Given the description of an element on the screen output the (x, y) to click on. 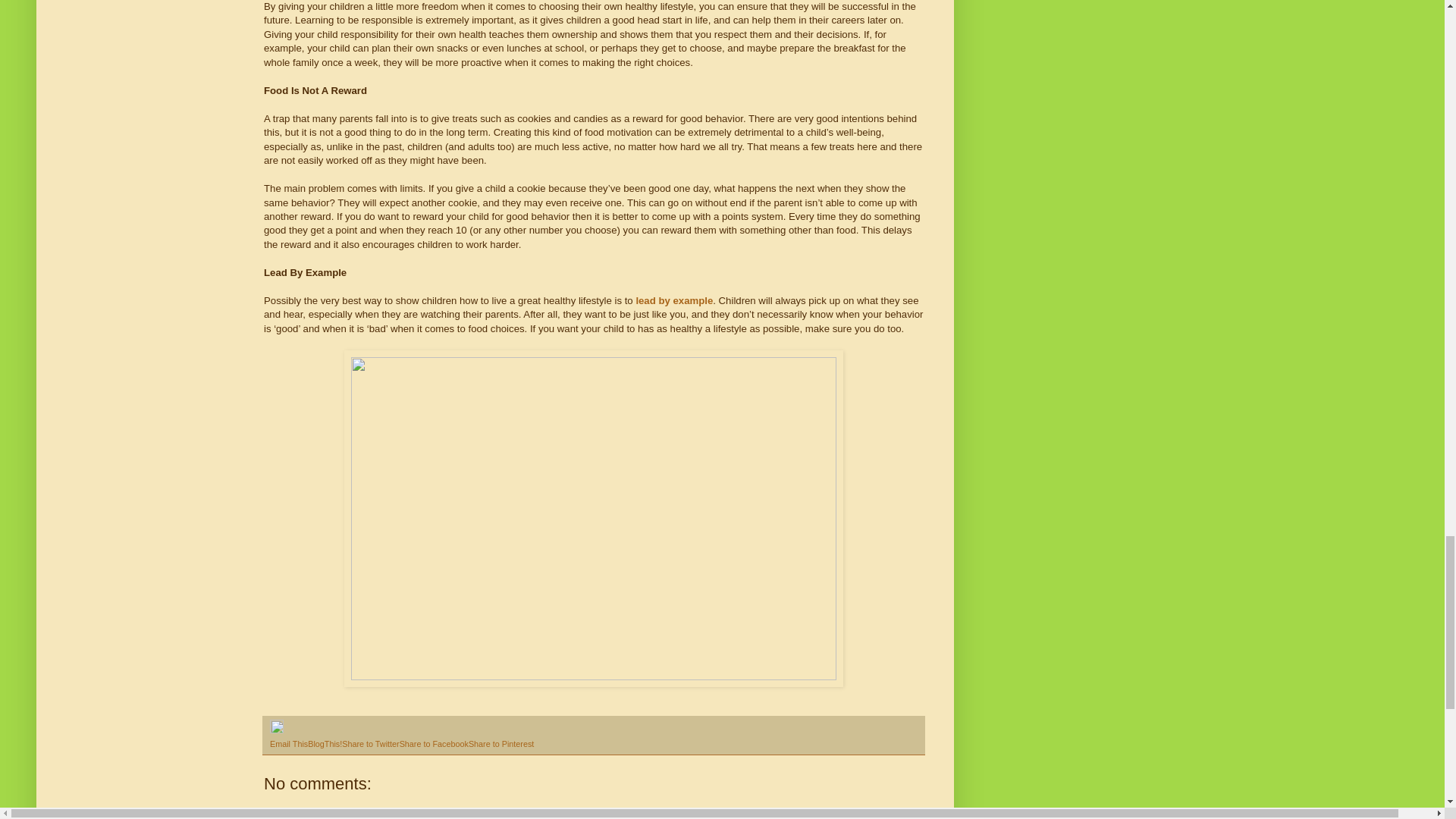
Share to Pinterest (501, 743)
Email This (288, 743)
Edit Post (276, 729)
lead by example (673, 300)
Share to Facebook (433, 743)
Share to Pinterest (501, 743)
BlogThis! (324, 743)
Share to Facebook (433, 743)
Share to Twitter (370, 743)
Share to Twitter (370, 743)
Email This (288, 743)
BlogThis! (324, 743)
